Given the description of an element on the screen output the (x, y) to click on. 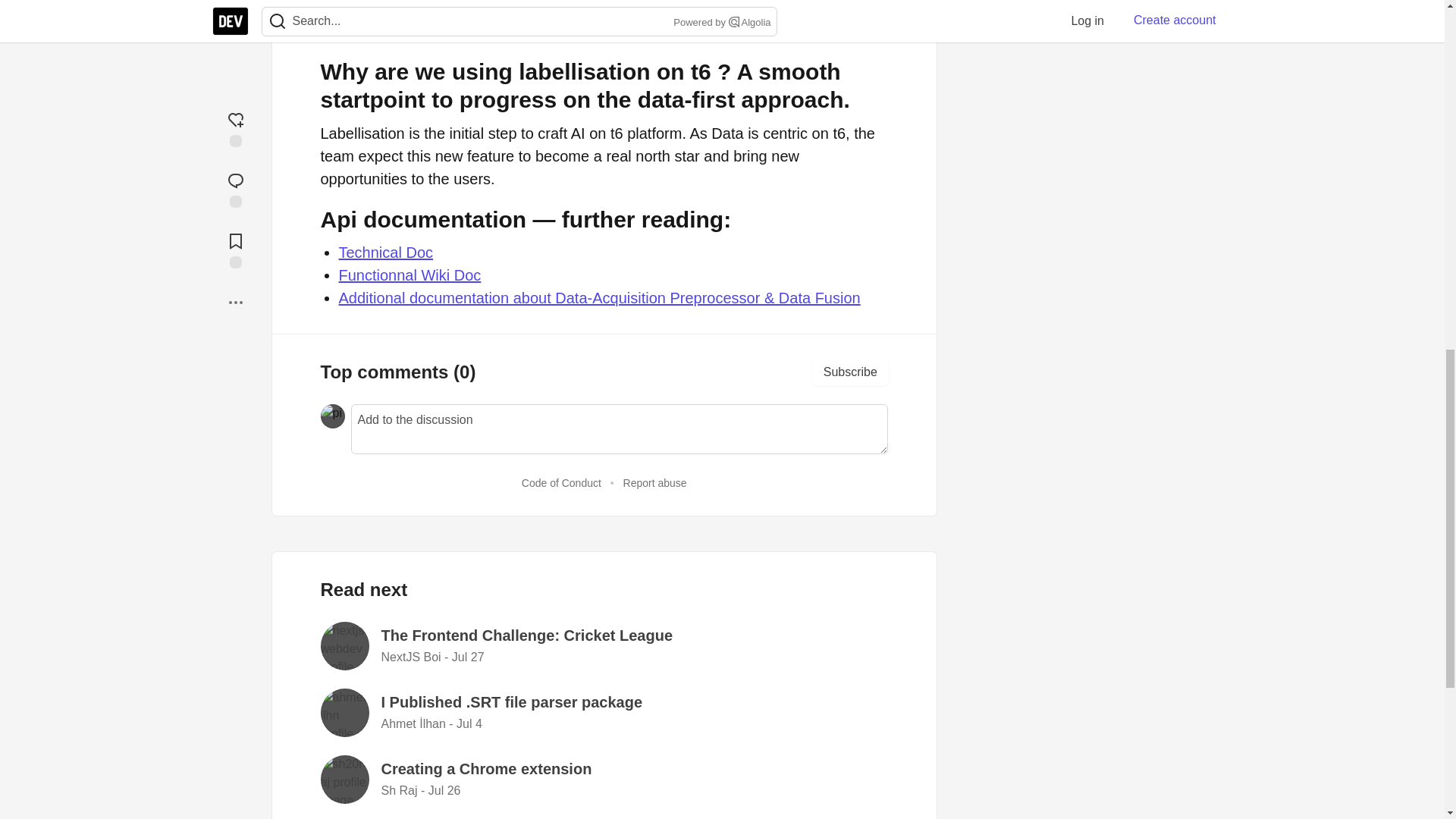
Technical Doc (384, 252)
Functionnal Wiki Doc (408, 274)
